Given the description of an element on the screen output the (x, y) to click on. 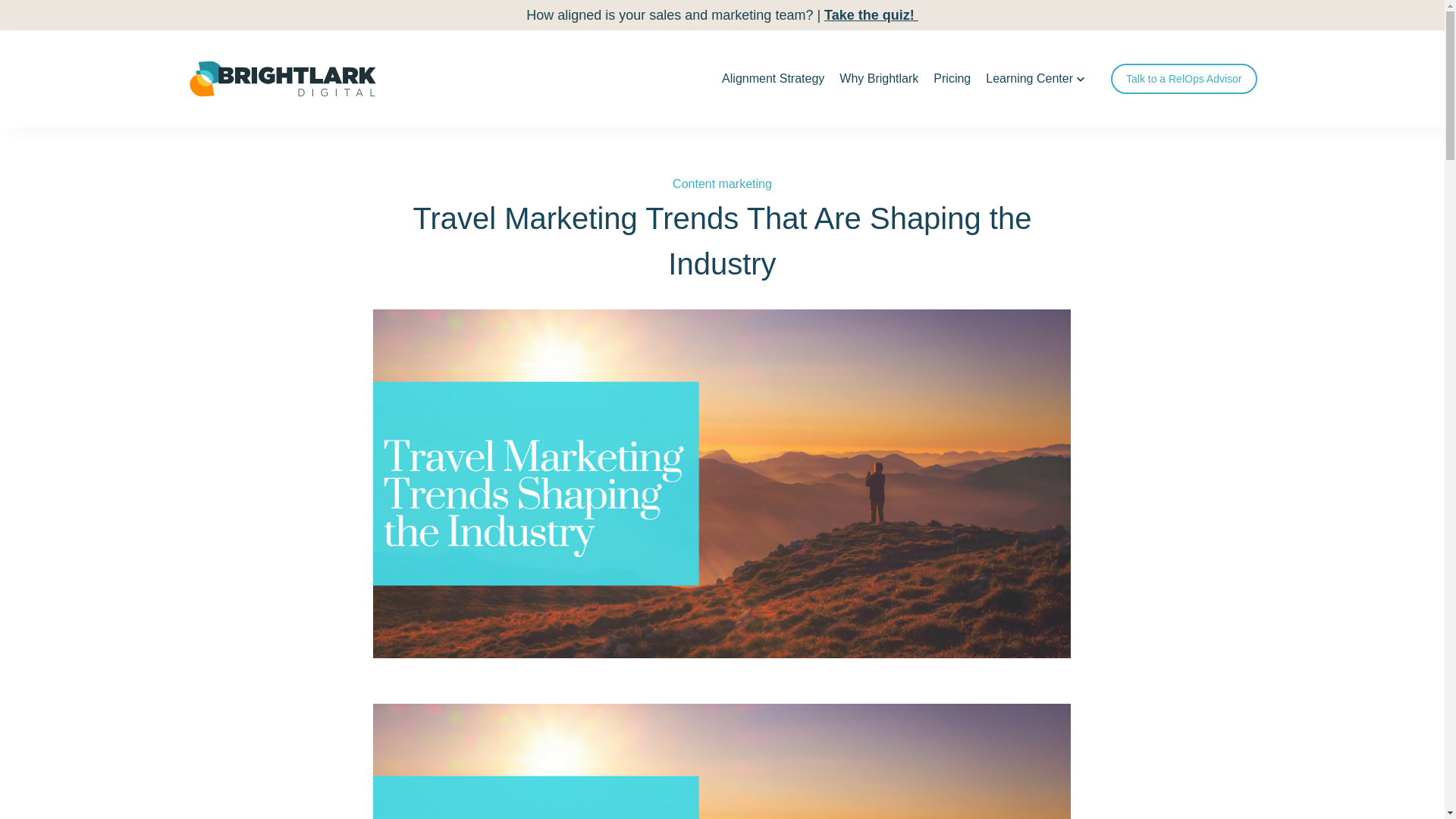
Alignment Strategy (772, 78)
Talk to a RelOps Advisor (1183, 78)
Take the quiz!  (871, 14)
Why Brightlark (878, 78)
Content marketing (721, 183)
Learning Center (1035, 78)
